Given the description of an element on the screen output the (x, y) to click on. 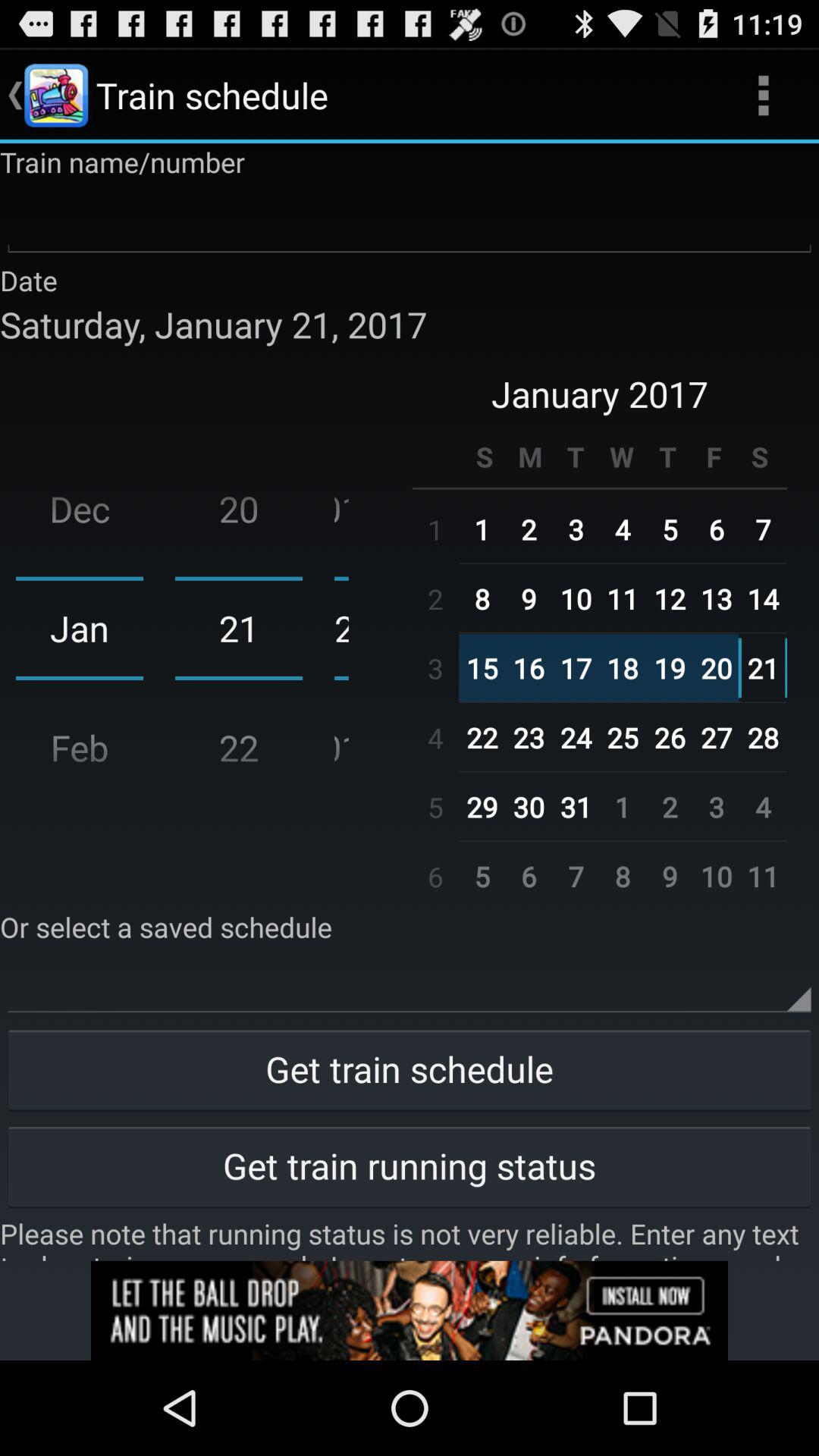
input train name or identifier number (409, 221)
